Given the description of an element on the screen output the (x, y) to click on. 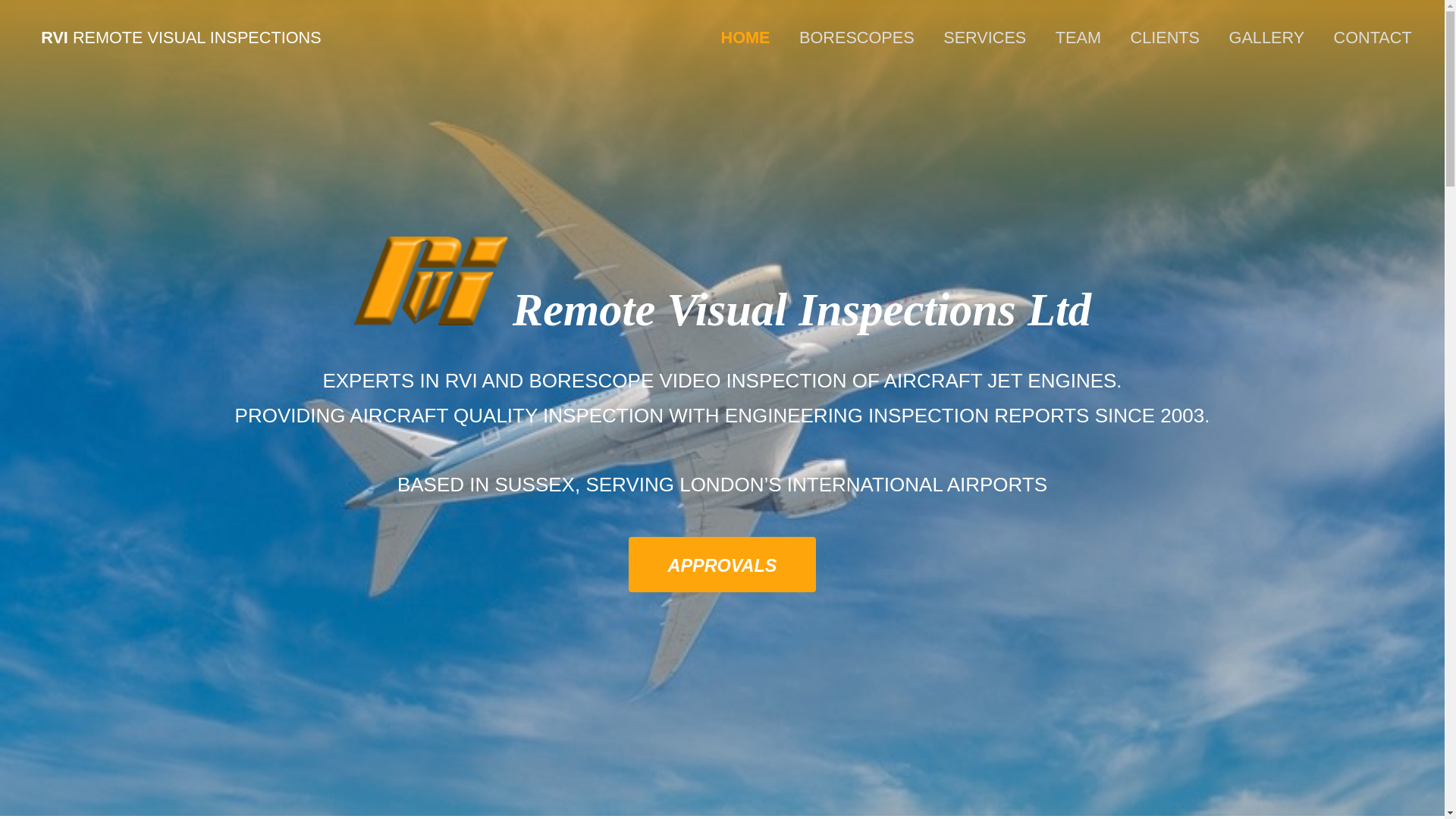
APPROVALS (721, 564)
HOME (745, 37)
RVI (54, 36)
CLIENTS (1165, 37)
CONTACT (1372, 37)
BORESCOPES (856, 37)
TEAM (1077, 37)
SERVICES (984, 37)
GALLERY (1266, 37)
REMOTE VISUAL INSPECTIONS (194, 36)
